Given the description of an element on the screen output the (x, y) to click on. 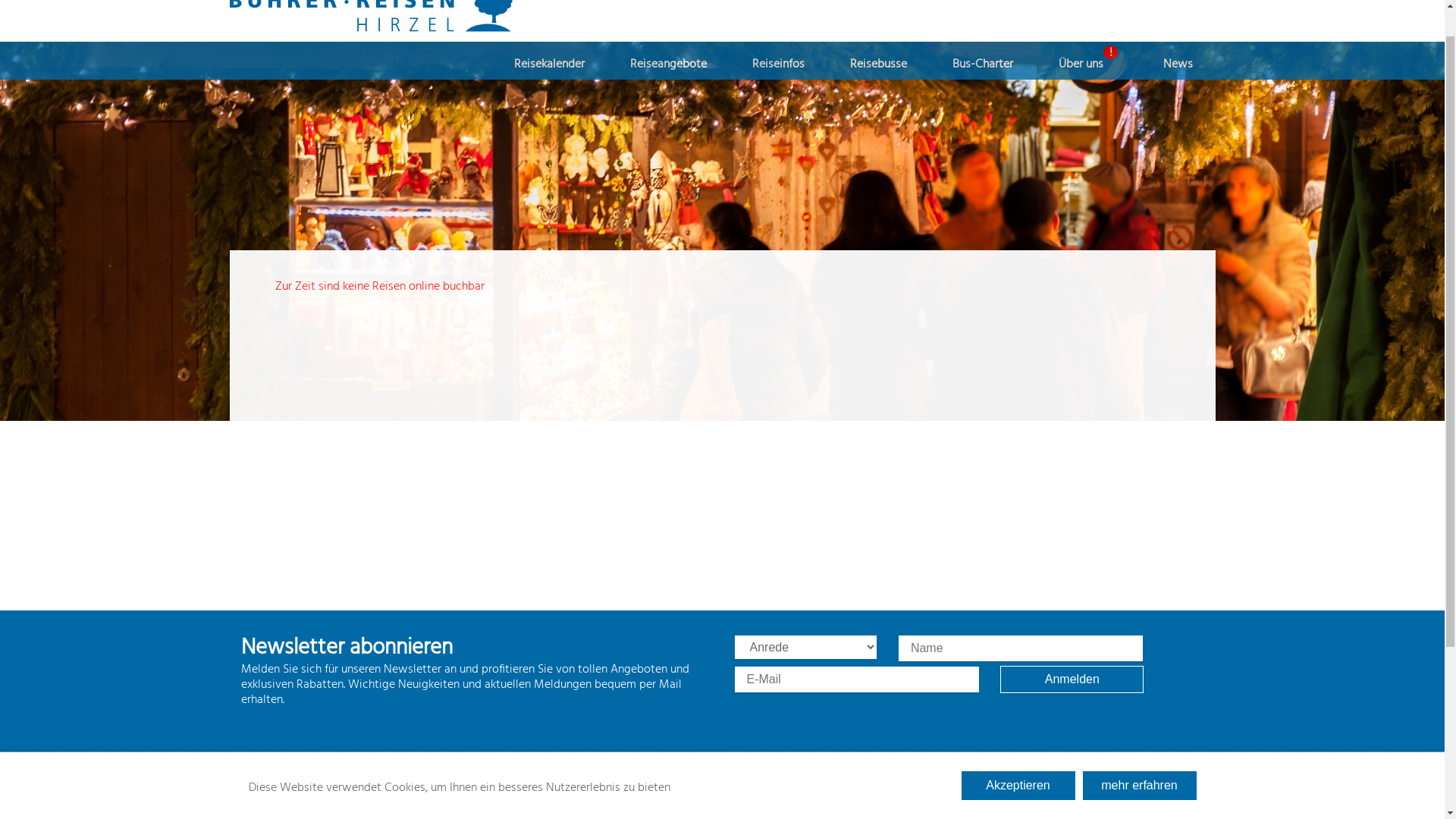
Bus-Charter Element type: text (982, 98)
+41 (0)44 729 92 41 Element type: text (872, 19)
Reiseangebote Element type: text (667, 98)
Reisebusse Element type: text (877, 98)
Gutscheine Element type: text (972, 19)
News Element type: text (1177, 98)
Reisekalender Element type: text (549, 98)
Reiseinfos Element type: text (778, 98)
